Given the description of an element on the screen output the (x, y) to click on. 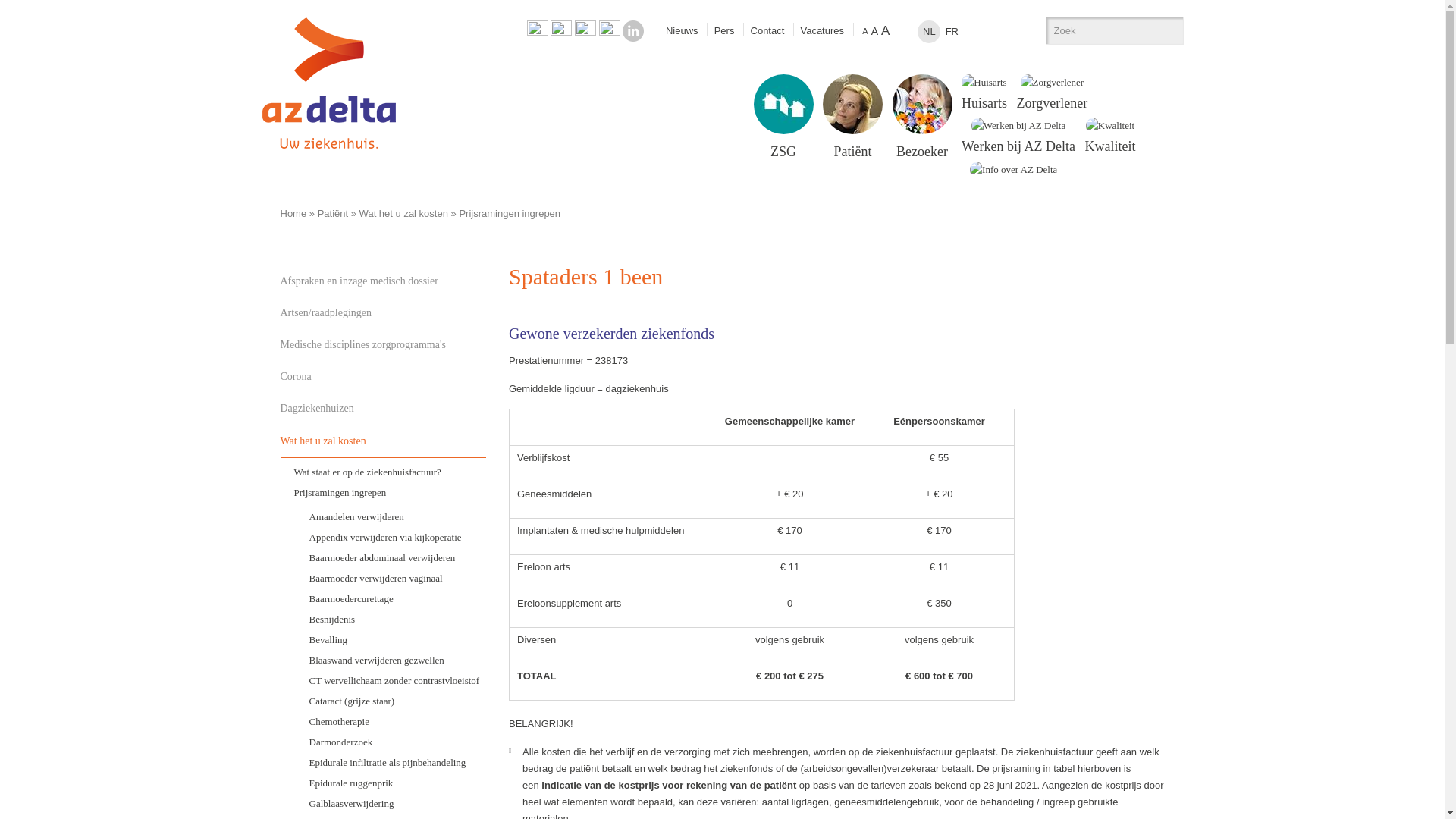
Prijsramingen ingrepen Element type: text (509, 213)
Home Element type: hover (324, 153)
Wat het u zal kosten Element type: text (383, 440)
Galblaasverwijdering Element type: text (390, 803)
Besnijdenis Element type: text (390, 618)
Werken bij AZ Delta Element type: text (1018, 135)
Amandelen verwijderen Element type: text (390, 516)
Corona Element type: text (383, 376)
Zorgverlener Element type: text (1052, 92)
Appendix verwijderen via kijkoperatie Element type: text (390, 536)
ZSG Element type: text (782, 117)
Huisarts Element type: text (984, 92)
Zoek Element type: text (1166, 30)
Bevalling Element type: text (390, 639)
Chemotherapie Element type: text (390, 721)
Bezoeker Element type: text (922, 117)
CT wervellichaam zonder contrastvloeistof Element type: text (390, 680)
Dagziekenhuizen Element type: text (383, 408)
Kwaliteit Element type: text (1110, 135)
Cataract (grijze staar) Element type: text (390, 700)
Artsen/raadplegingen Element type: text (383, 313)
A Element type: text (885, 30)
Baarmoeder verwijderen vaginaal Element type: text (390, 577)
Wat staat er op de ziekenhuisfactuur? Element type: text (383, 471)
Baarmoeder abdominaal verwijderen Element type: text (390, 557)
Home Element type: text (293, 213)
Medische disciplines zorgprogramma's Element type: text (383, 344)
A Element type: text (864, 30)
Prijsramingen ingrepen Element type: text (383, 492)
A Element type: text (874, 31)
Baarmoedercurettage Element type: text (390, 598)
FR Element type: text (951, 31)
Pers Element type: text (724, 30)
Afspraken en inzage medisch dossier Element type: text (383, 281)
Contact Element type: text (767, 30)
Skip to main content Element type: text (44, 0)
NL Element type: text (928, 31)
Nieuws Element type: text (682, 30)
Epidurale infiltratie als pijnbehandeling Element type: text (390, 762)
Vacatures Element type: text (821, 30)
Wat het u zal kosten Element type: text (403, 213)
Darmonderzoek Element type: text (390, 741)
Epidurale ruggenprik Element type: text (390, 781)
Geef de zoektermen in waar u wil naar zoeken. Element type: hover (1098, 30)
Blaaswand verwijderen gezwellen Element type: text (390, 659)
